Given the description of an element on the screen output the (x, y) to click on. 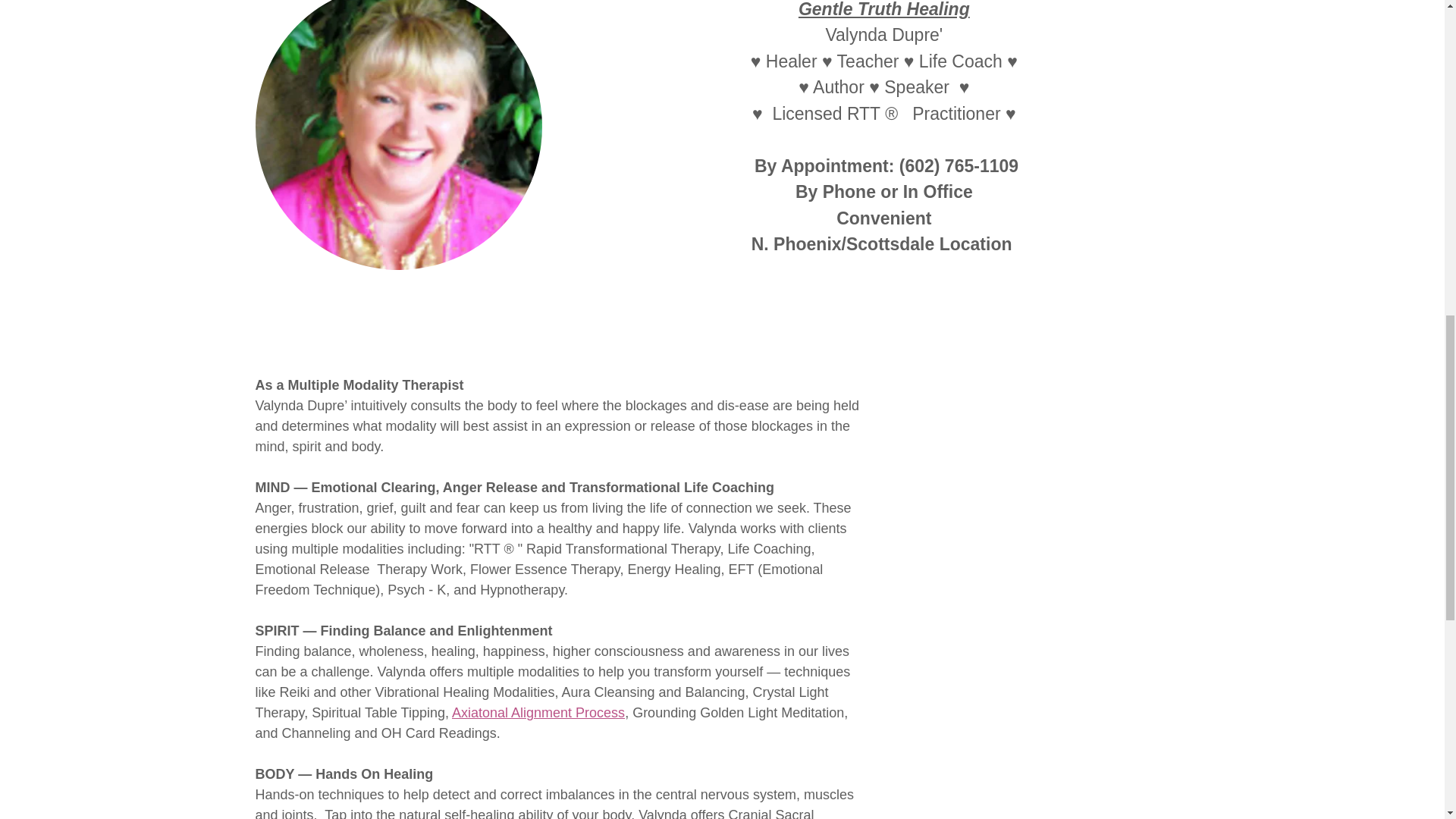
Axiatonal Alignment Process (537, 712)
